Given the description of an element on the screen output the (x, y) to click on. 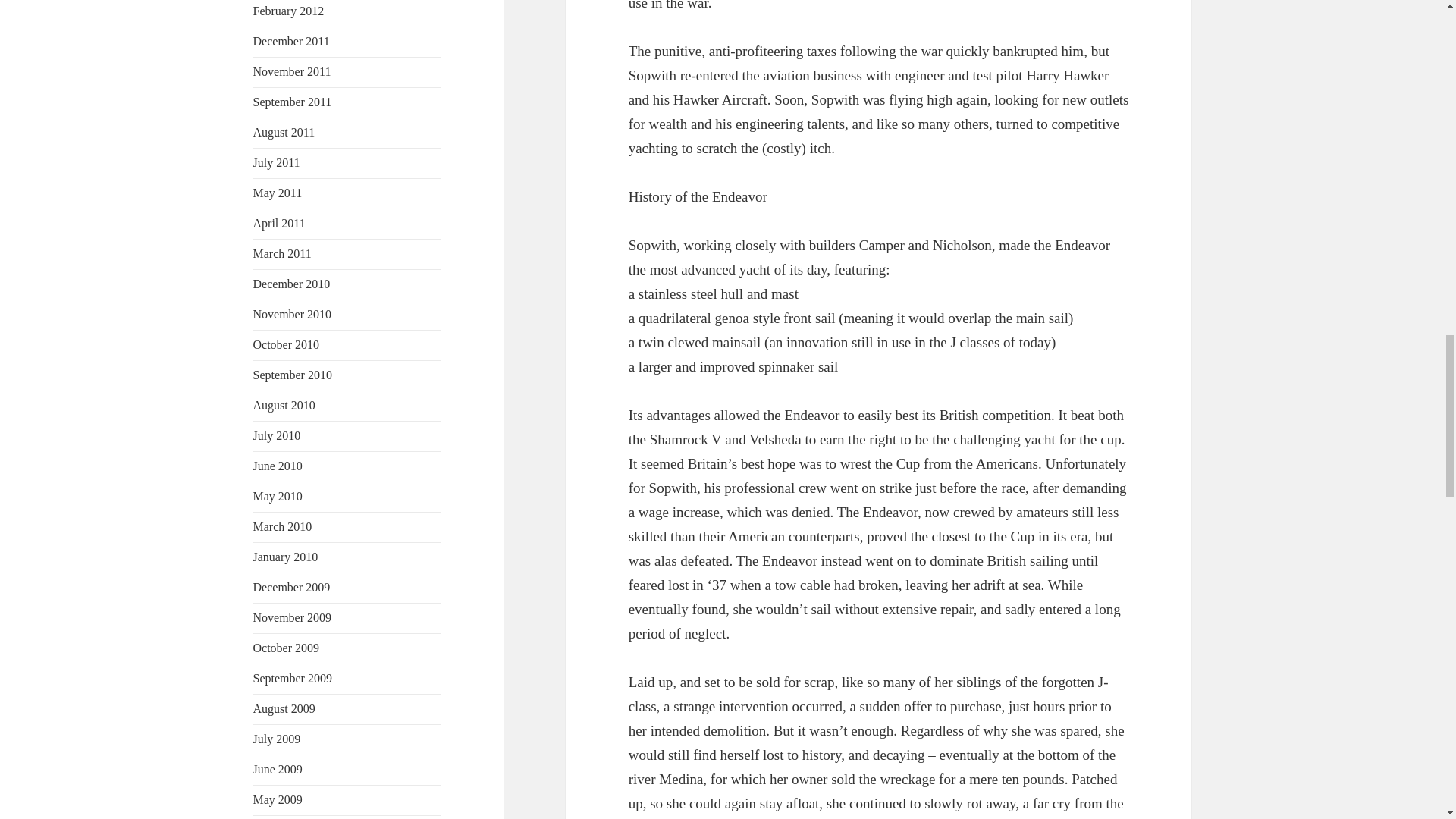
February 2012 (288, 10)
May 2011 (277, 192)
December 2011 (291, 41)
August 2011 (284, 132)
July 2011 (276, 162)
April 2011 (279, 223)
November 2011 (292, 71)
September 2011 (292, 101)
